Given the description of an element on the screen output the (x, y) to click on. 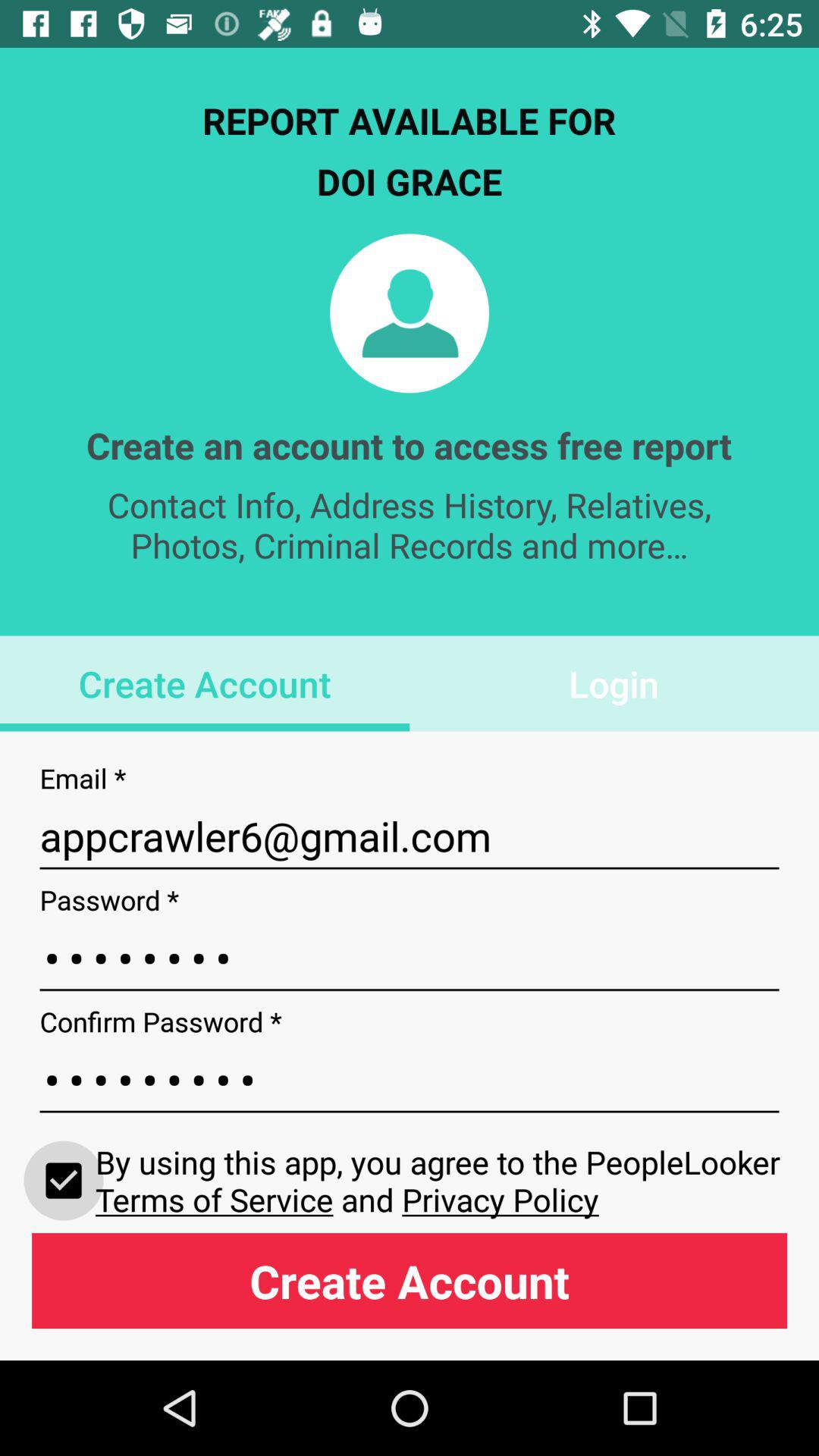
swipe until the appcrawler6@gmail.com (409, 836)
